Given the description of an element on the screen output the (x, y) to click on. 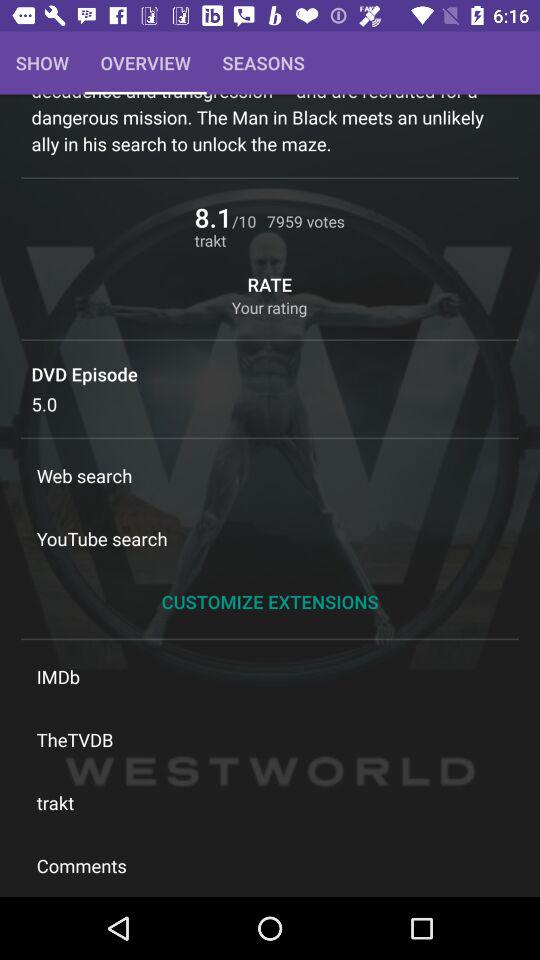
jump until the comments item (270, 865)
